Given the description of an element on the screen output the (x, y) to click on. 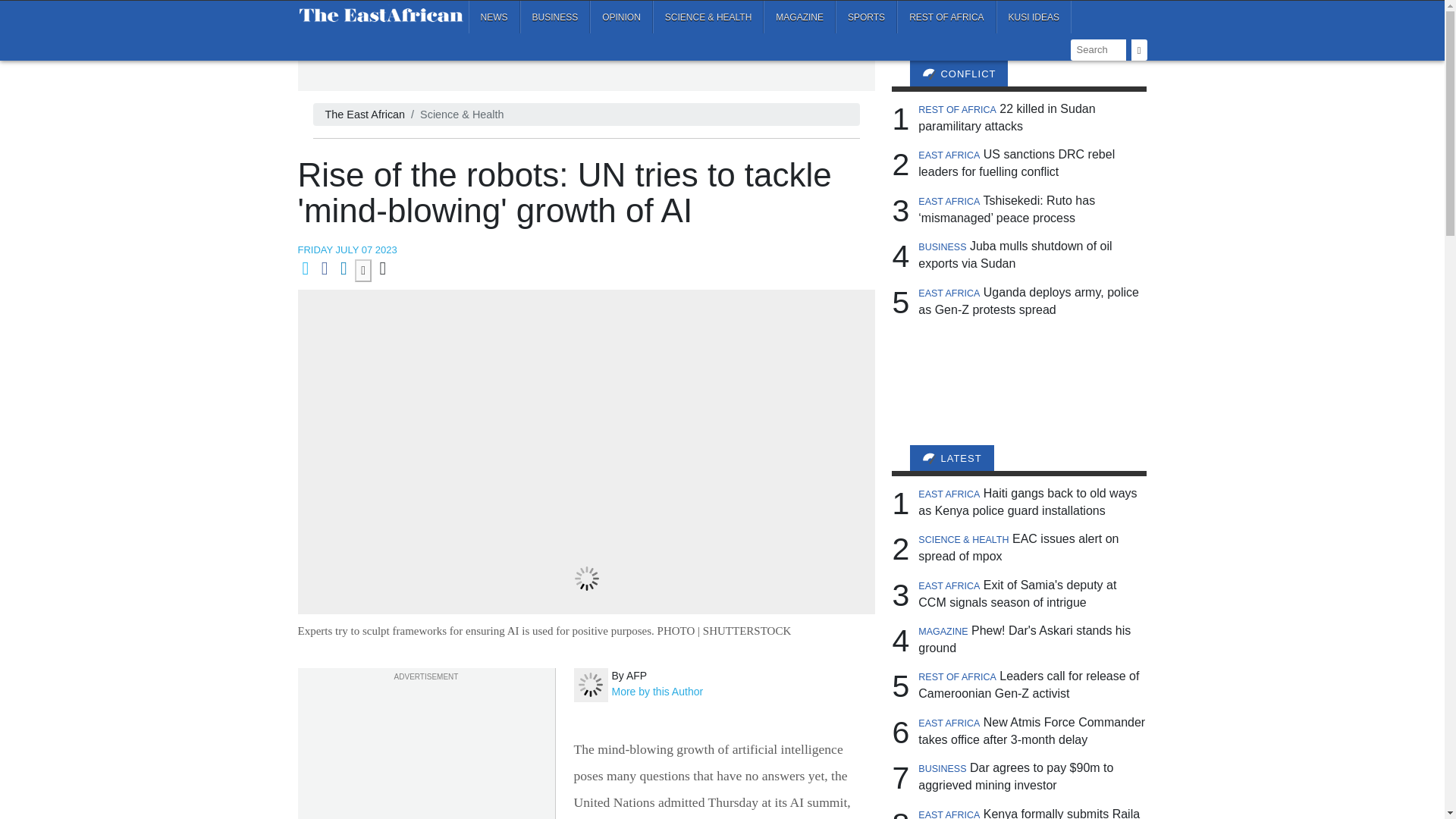
NEWS (493, 16)
SPORTS (865, 16)
MAGAZINE (798, 16)
OPINION (620, 16)
BUSINESS (555, 16)
